Given the description of an element on the screen output the (x, y) to click on. 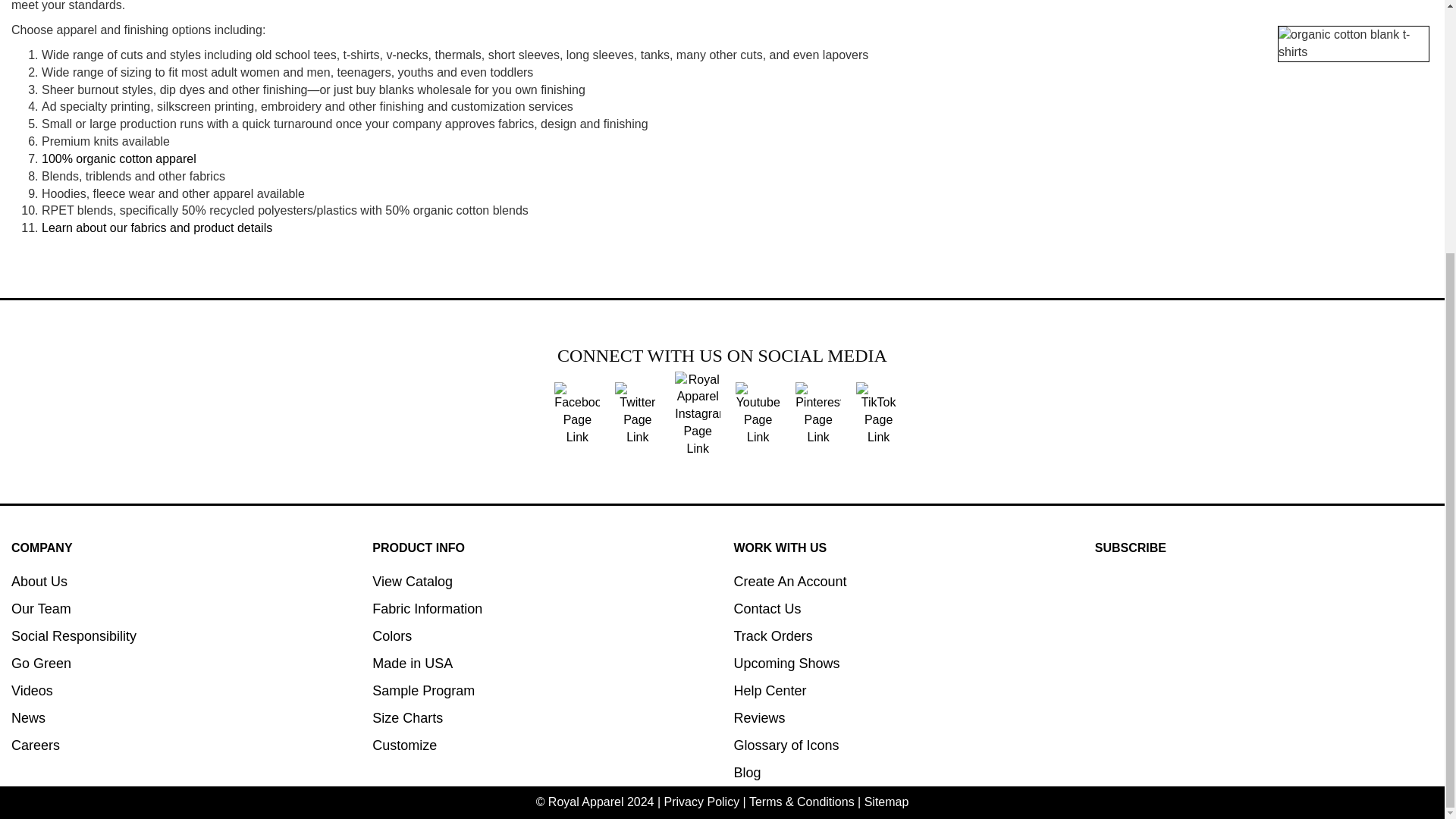
Visit us on Pinterest (817, 413)
Visit Us on Twitter (637, 413)
Youtube (757, 413)
Follow us on Facebook (576, 413)
Visit us on TikTok (878, 413)
Follow us on Instagram (697, 413)
